Given the description of an element on the screen output the (x, y) to click on. 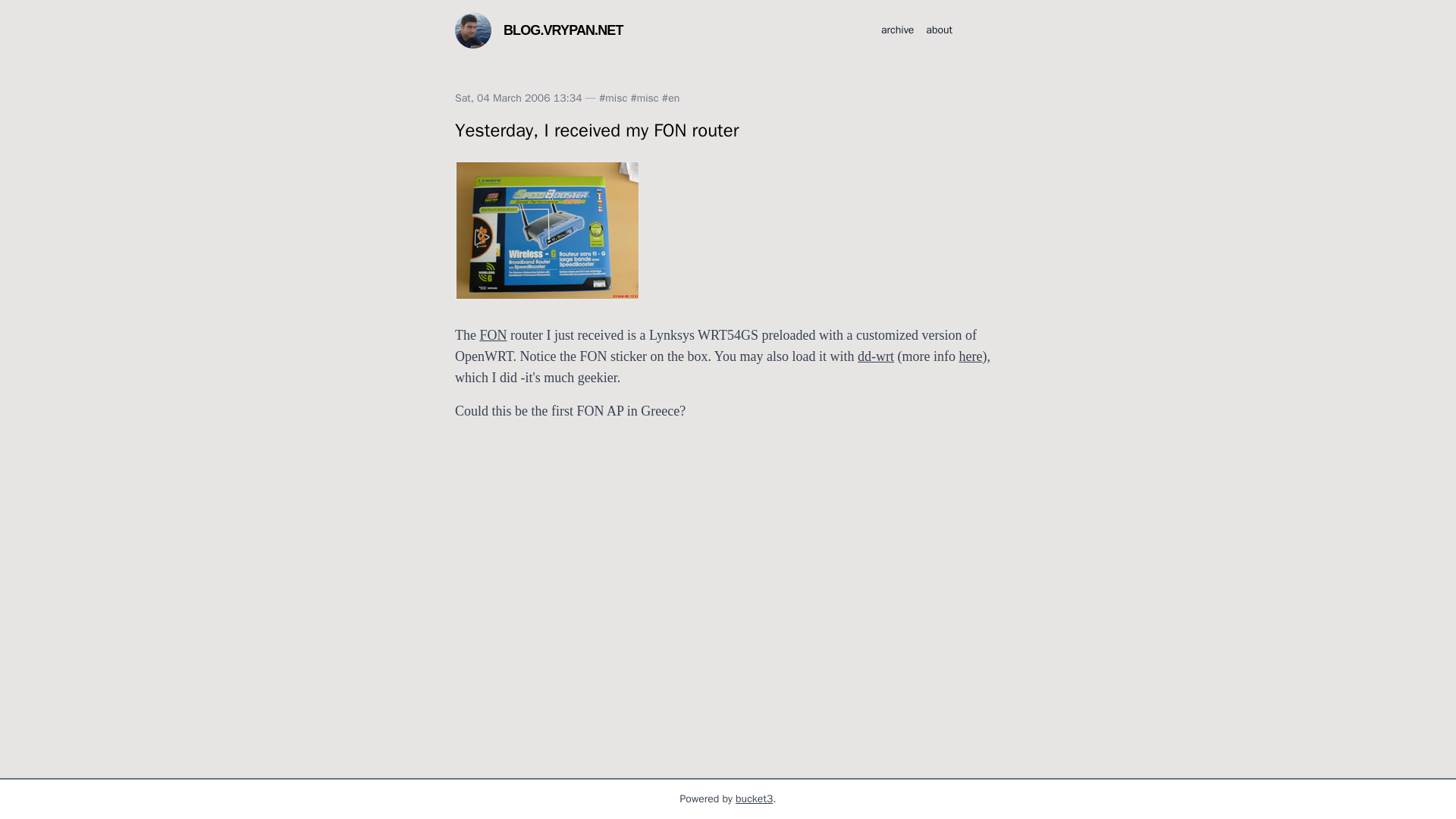
BLOG.VRYPAN.NET (563, 29)
bucket3 (754, 798)
dd-wrt (875, 355)
archive (897, 30)
here (970, 355)
FON (492, 335)
Sat, 04 March 2006 13:34 (518, 97)
about (939, 30)
Photo Sharing (547, 228)
